Given the description of an element on the screen output the (x, y) to click on. 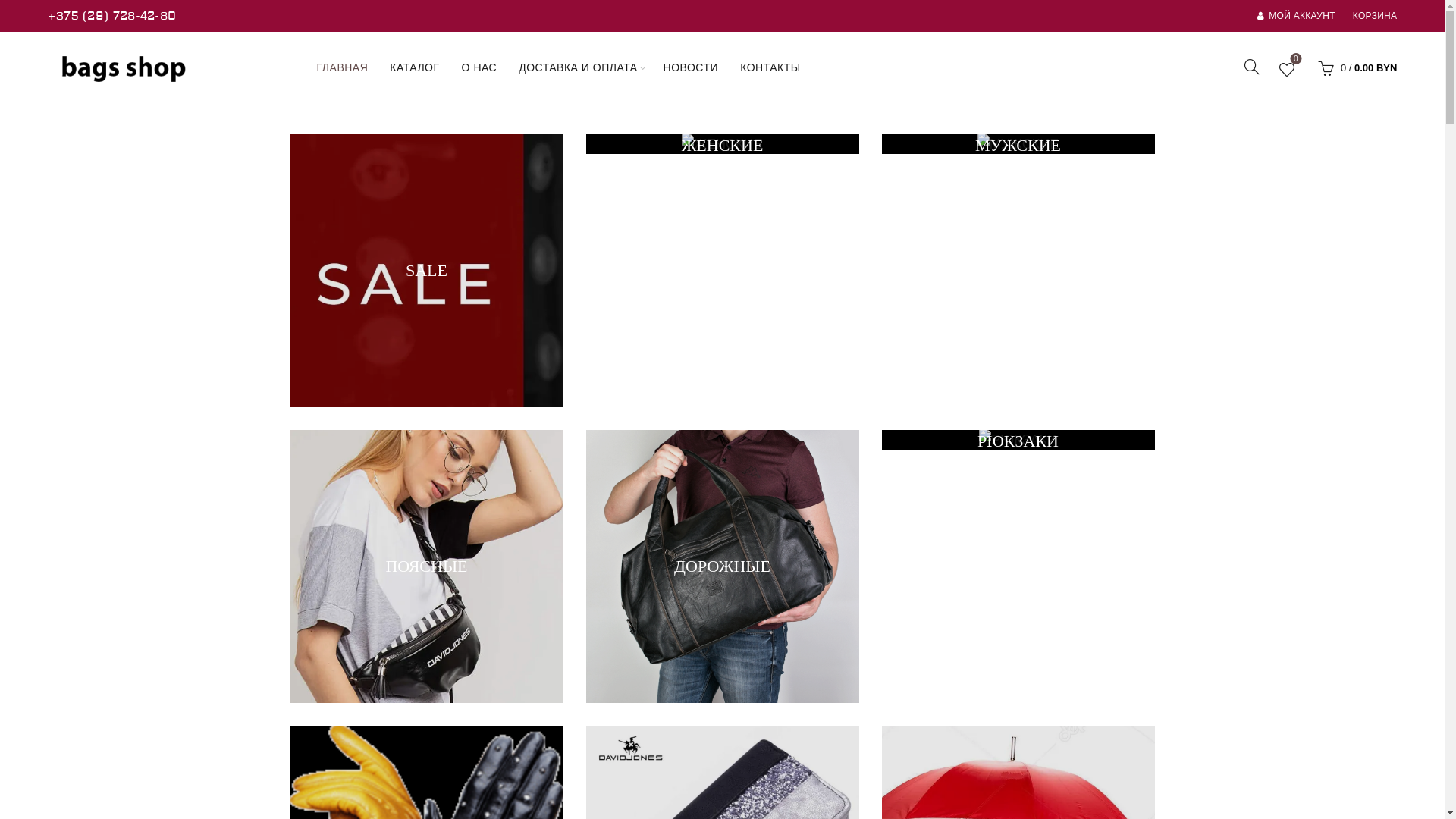
0 / 0.00 BYN Element type: text (1355, 67)
Search Element type: text (30, 45)
Wishlist
0 Element type: text (1286, 69)
